Given the description of an element on the screen output the (x, y) to click on. 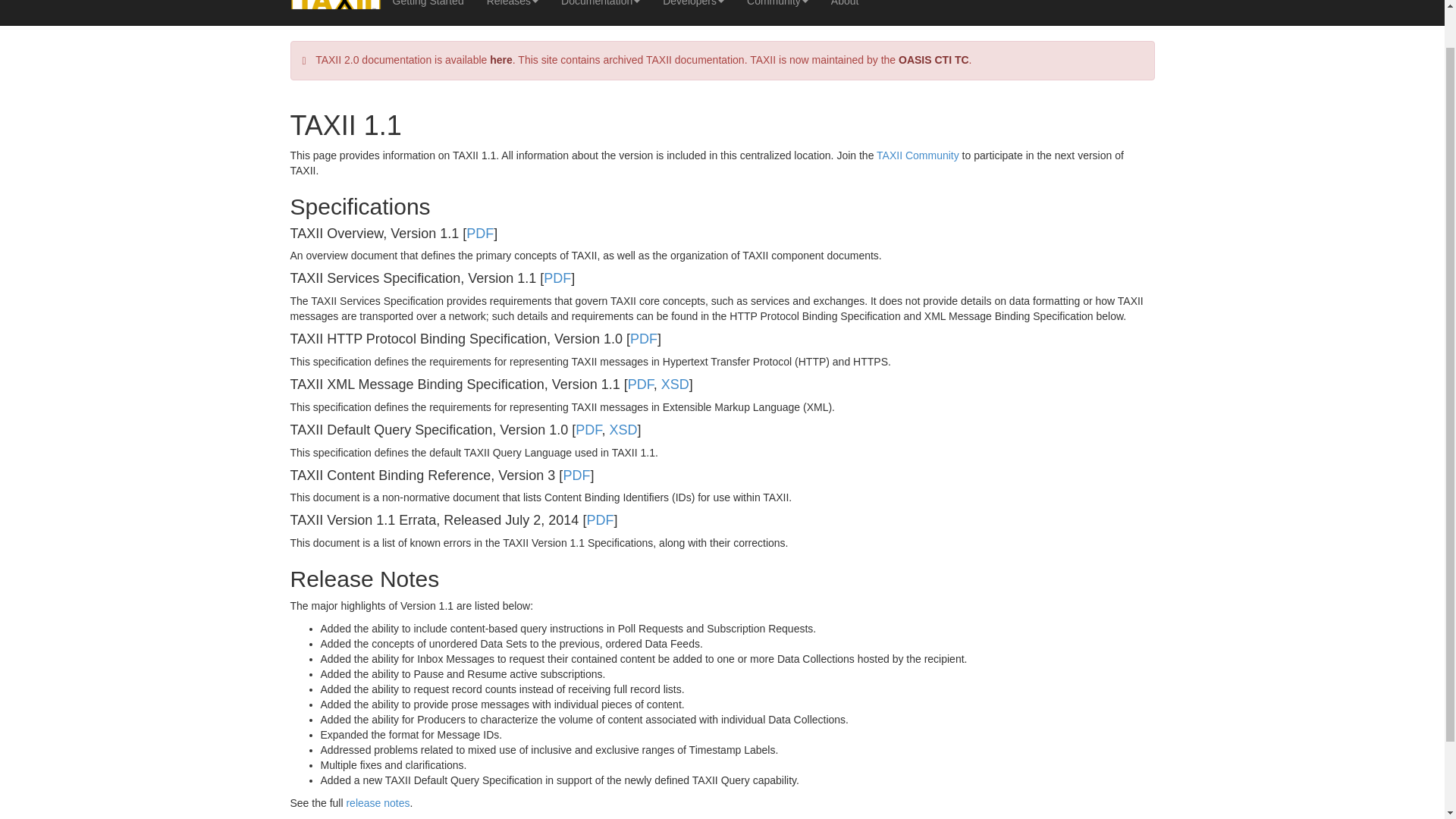
PDF (640, 384)
About (844, 9)
TAXII Community (917, 155)
PDF (479, 233)
Getting Started (427, 9)
here (500, 60)
Developers (692, 9)
release notes (377, 802)
XSD (622, 429)
XSD (674, 384)
PDF (599, 519)
PDF (644, 338)
Releases (513, 9)
Community (777, 9)
PDF (588, 429)
